Given the description of an element on the screen output the (x, y) to click on. 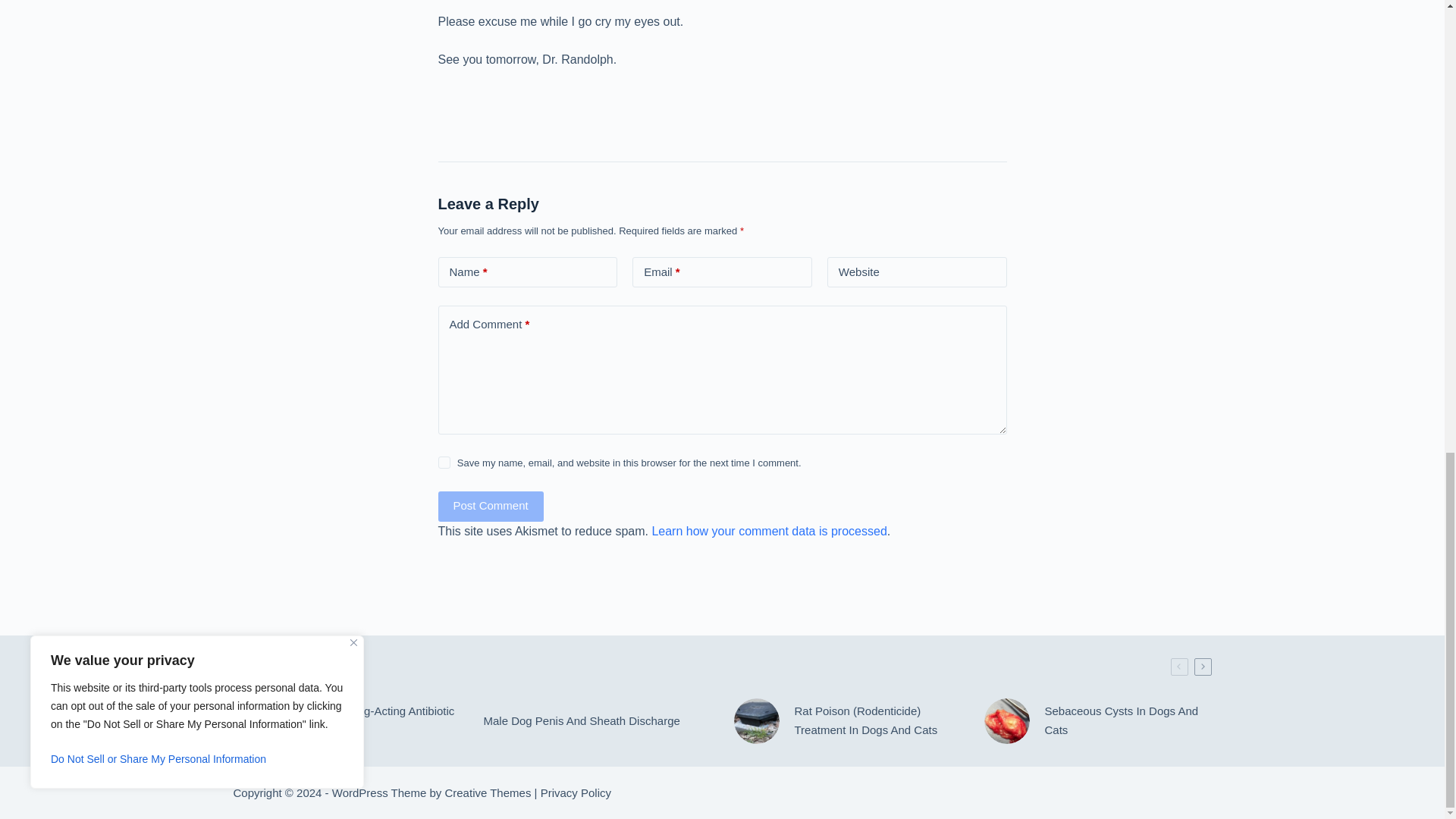
yes (443, 462)
